Given the description of an element on the screen output the (x, y) to click on. 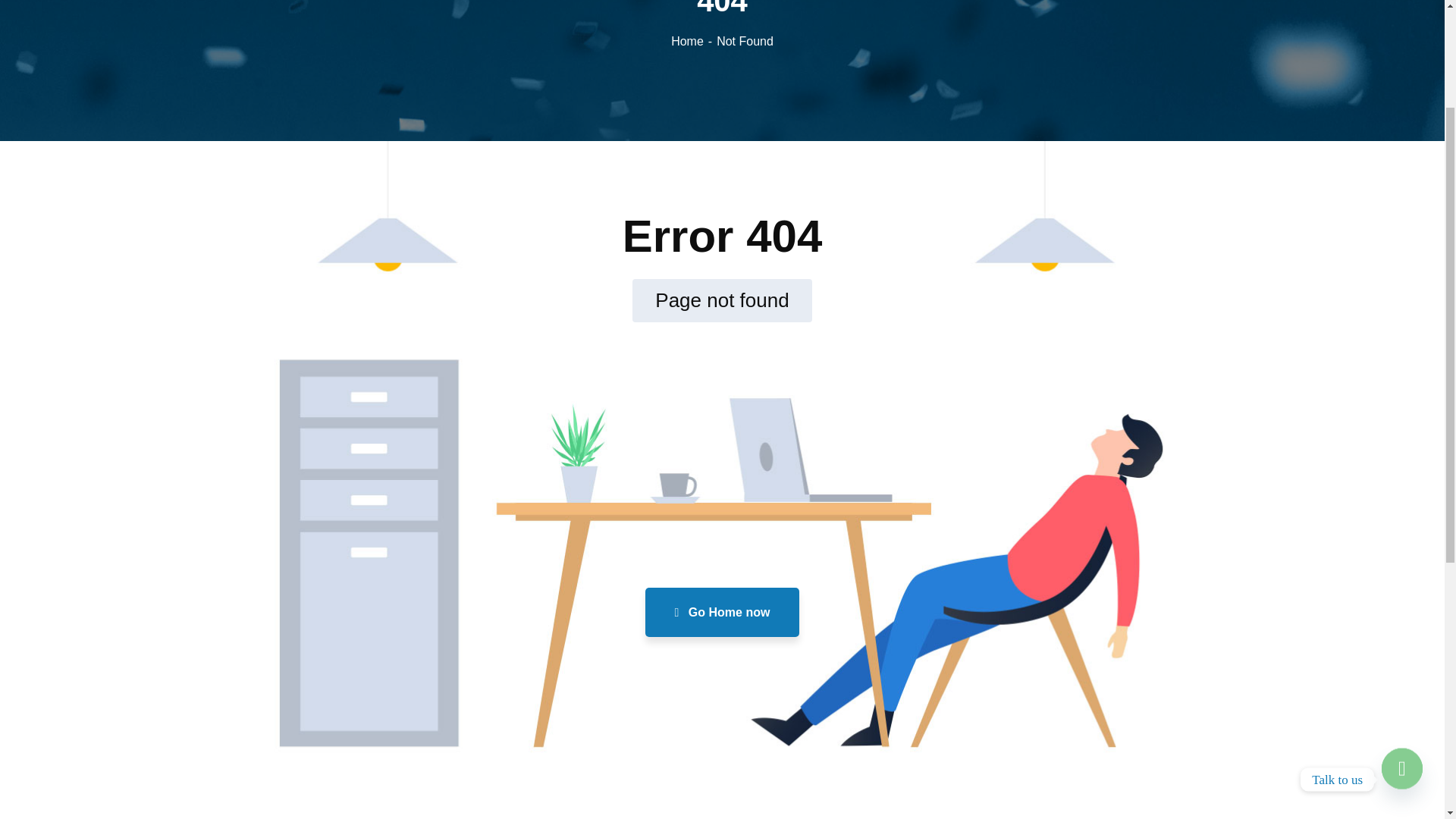
Home (693, 41)
Home (883, 355)
Go Home now (722, 612)
